Given the description of an element on the screen output the (x, y) to click on. 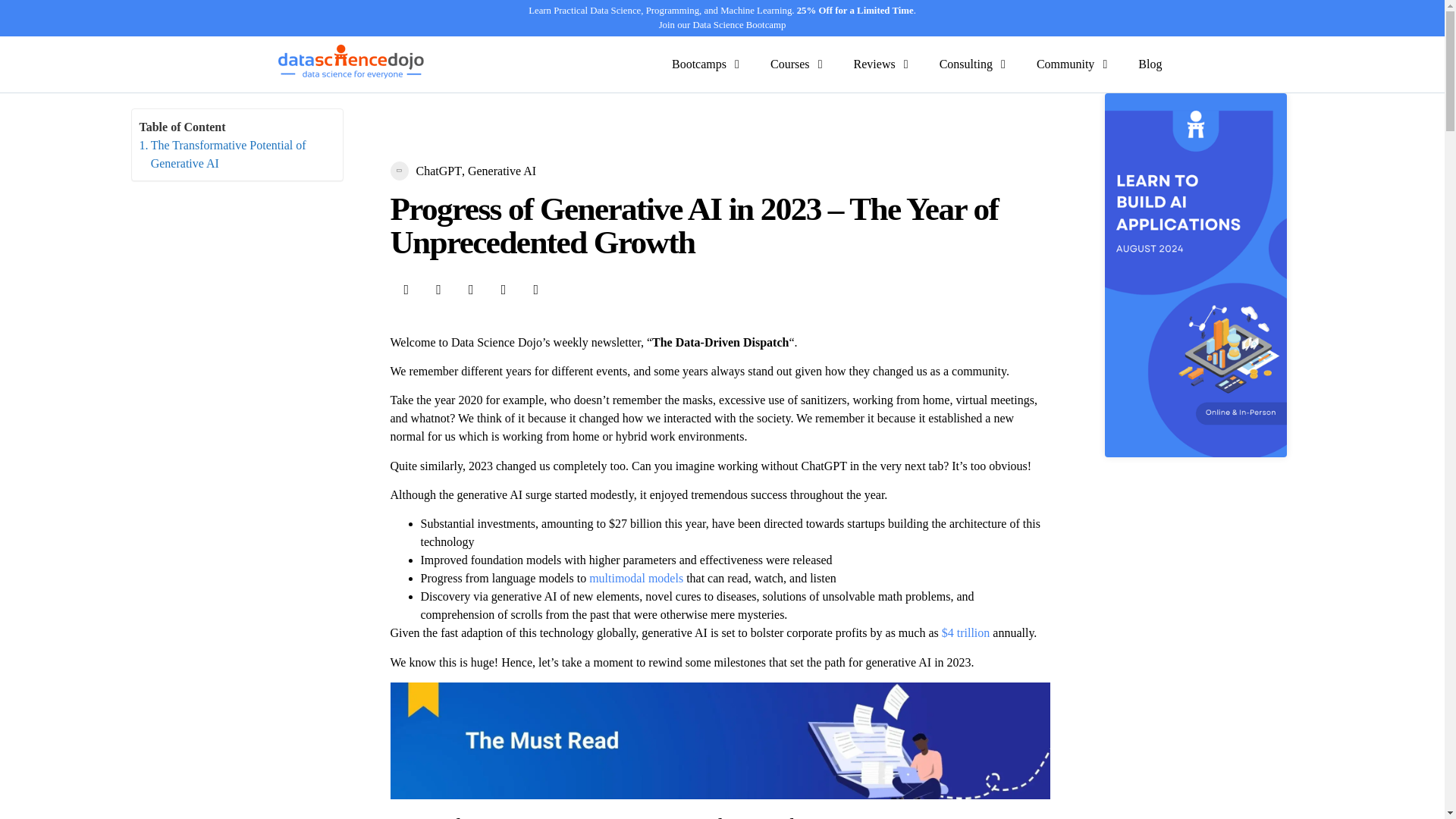
Consulting (965, 64)
Bootcamps (698, 64)
Courses (789, 64)
The Transformative Potential of Generative AI (233, 154)
The Transformative Potential of Generative AI (233, 154)
Blog (1149, 64)
Reviews (874, 64)
Community (1065, 64)
